Given the description of an element on the screen output the (x, y) to click on. 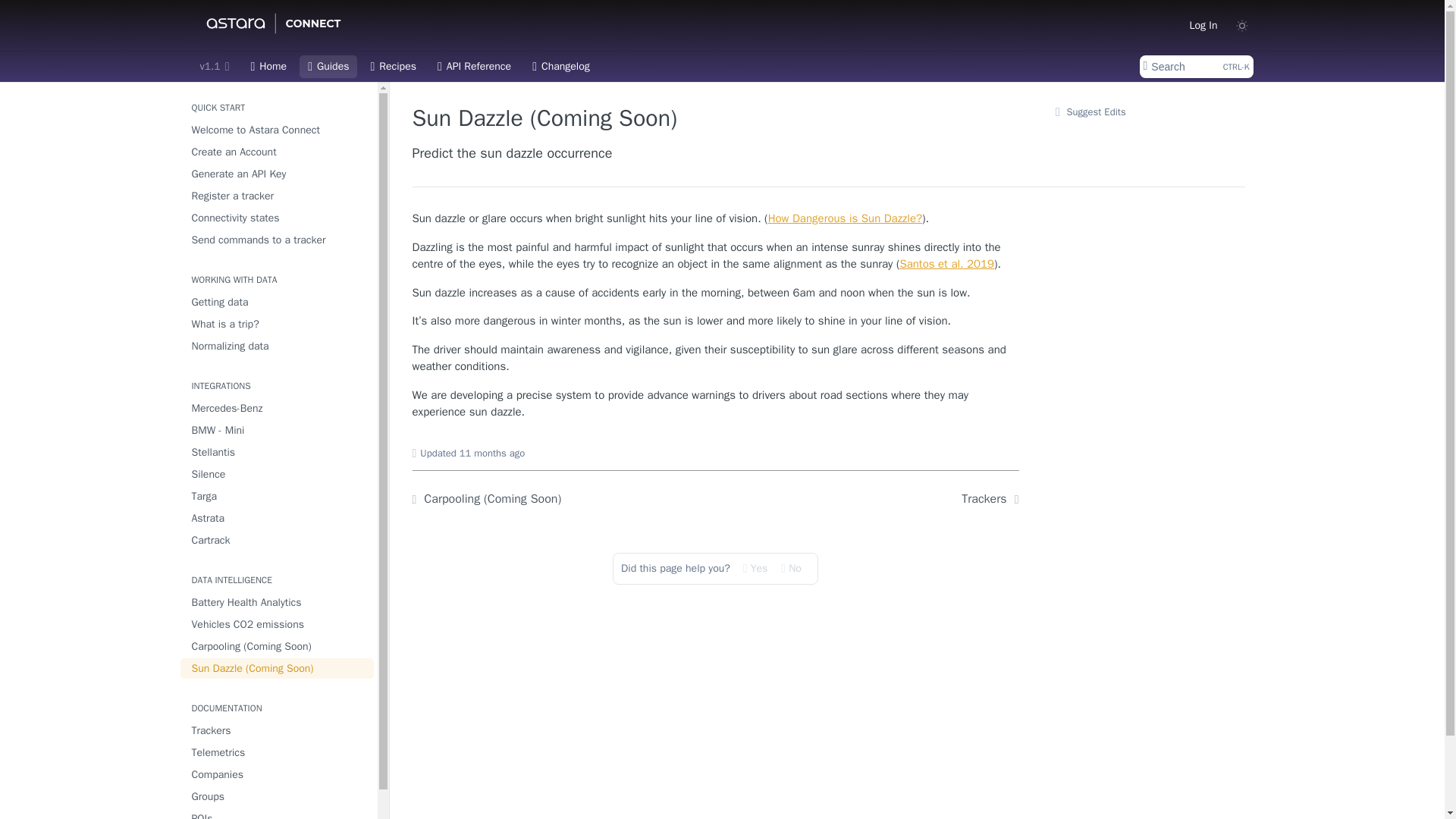
Guides (327, 66)
Stellantis (277, 452)
Generate an API Key (277, 173)
Battery Health Analytics (277, 602)
Targa (277, 496)
Log In (1202, 24)
Home (269, 66)
Getting data (277, 301)
Recipes (393, 66)
